Given the description of an element on the screen output the (x, y) to click on. 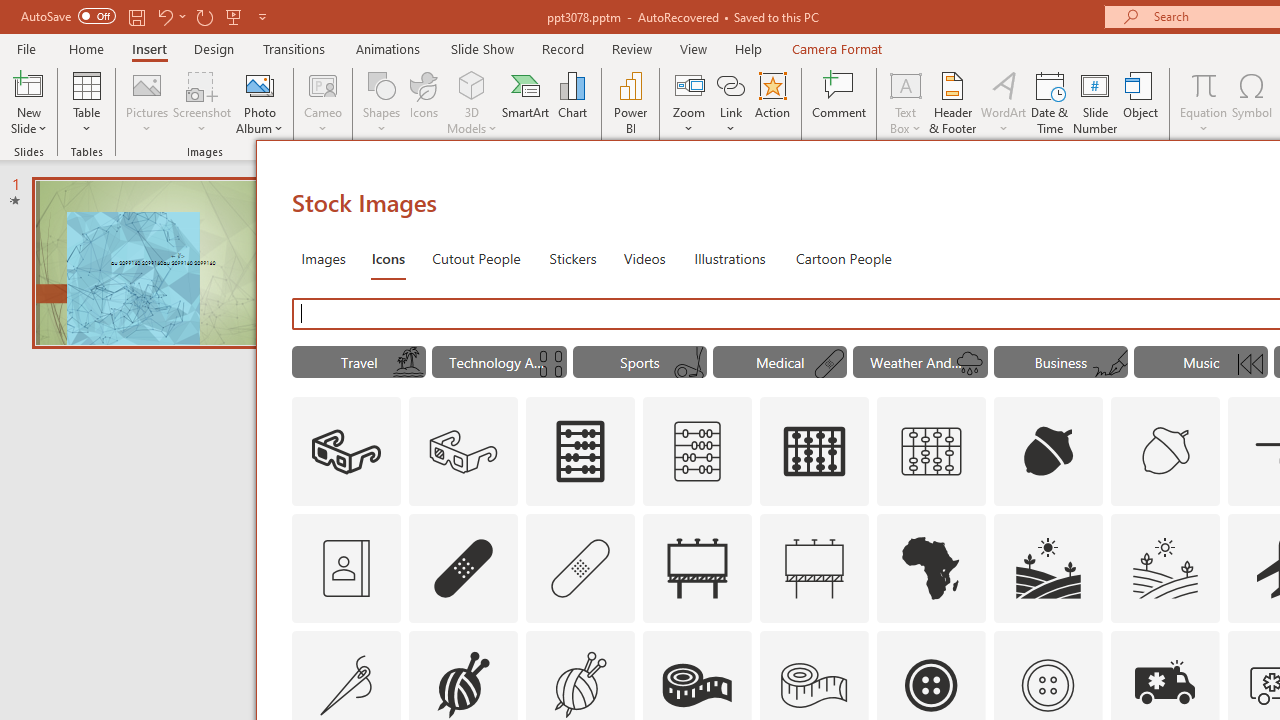
"Music" Icons. (1201, 362)
New Photo Album... (259, 84)
AutomationID: Icons_Elliptical_M (688, 364)
Videos (644, 258)
Slide Number (1095, 102)
WordArt (1004, 102)
AutomationID: Icons_AdhesiveBandage (463, 568)
AutomationID: Icons_3dGlasses (346, 452)
"Travel" Icons. (358, 362)
